Given the description of an element on the screen output the (x, y) to click on. 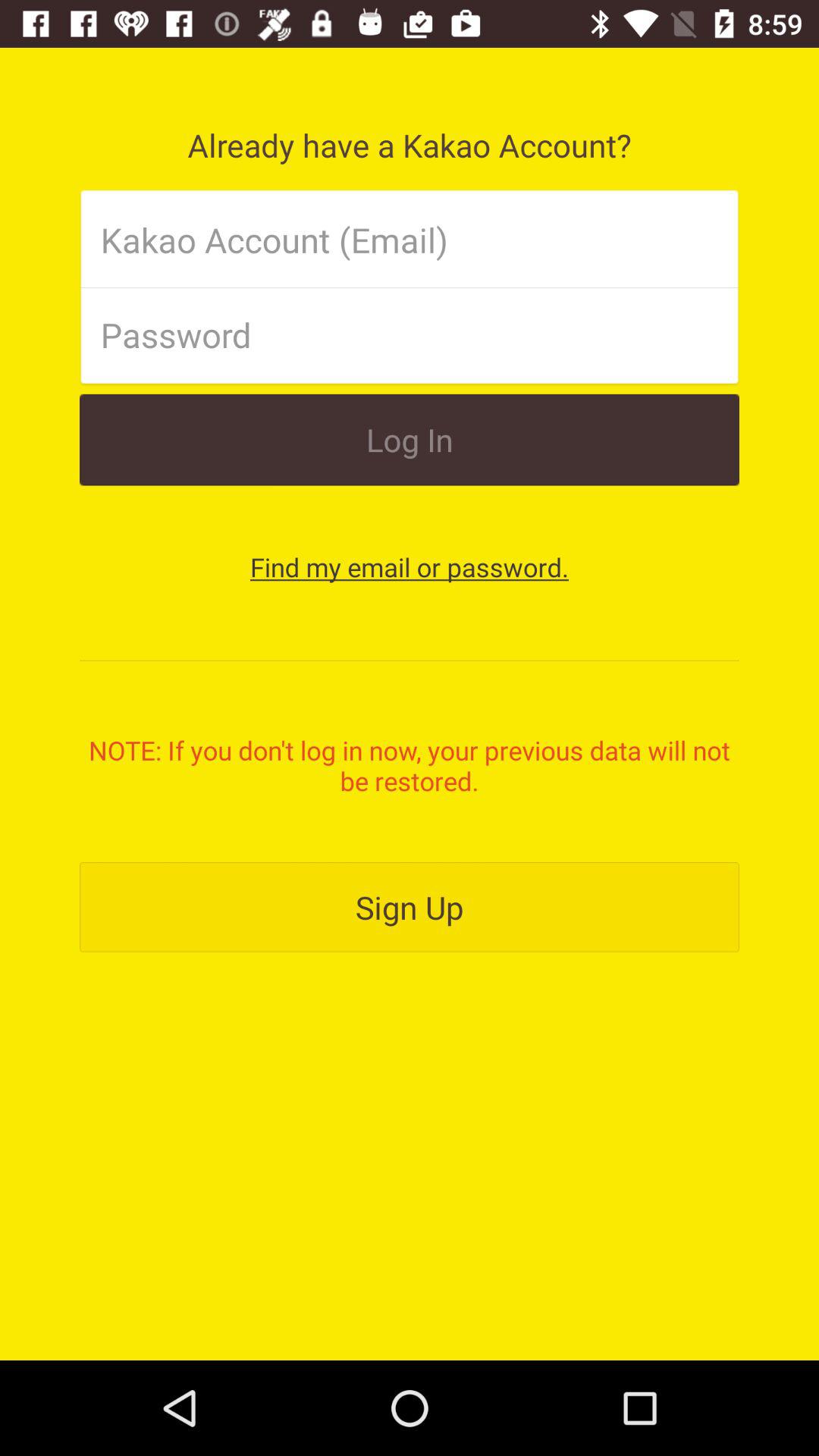
click note if you (409, 765)
